Given the description of an element on the screen output the (x, y) to click on. 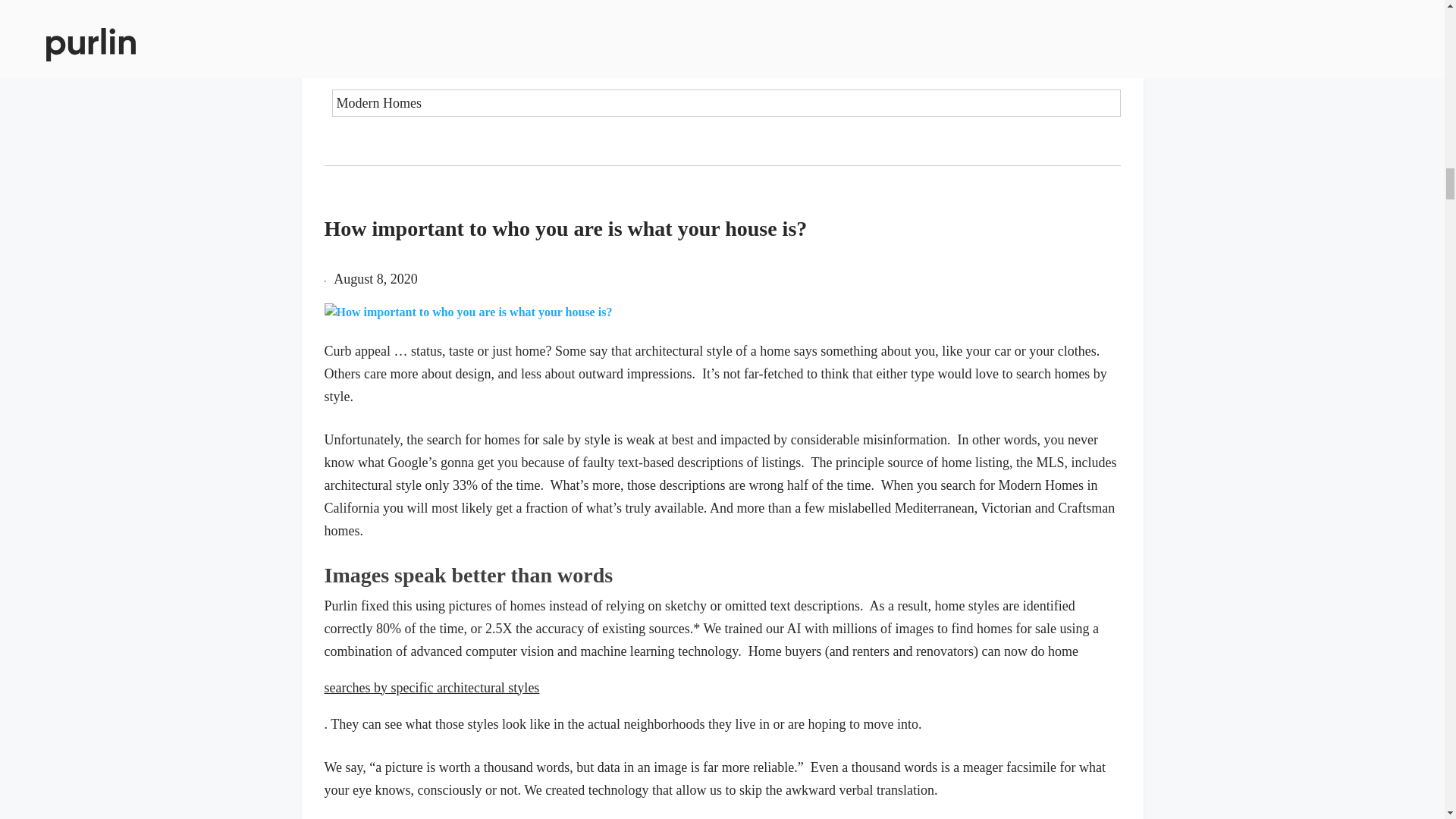
Homes For Sale (726, 62)
Modern Homes (726, 103)
Find A Home (726, 21)
